Given the description of an element on the screen output the (x, y) to click on. 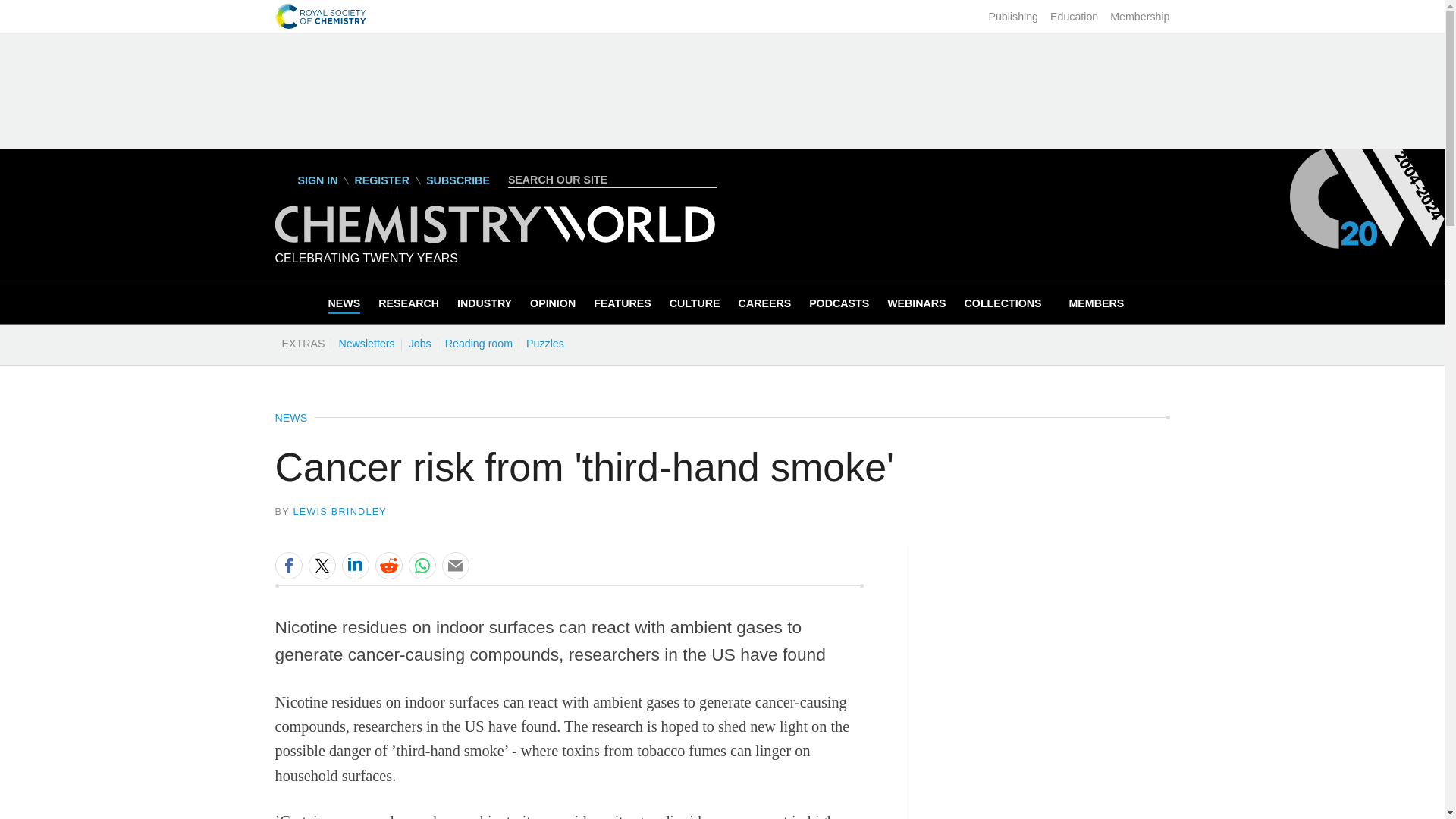
SUBSCRIBE (457, 180)
Education (1073, 16)
Membership (1139, 16)
SIGN IN (306, 180)
Publishing (1013, 16)
Jobs (419, 343)
Chemistry World (494, 238)
SEARCH (708, 179)
Reading room (478, 343)
Share this on LinkedIn (354, 565)
